Given the description of an element on the screen output the (x, y) to click on. 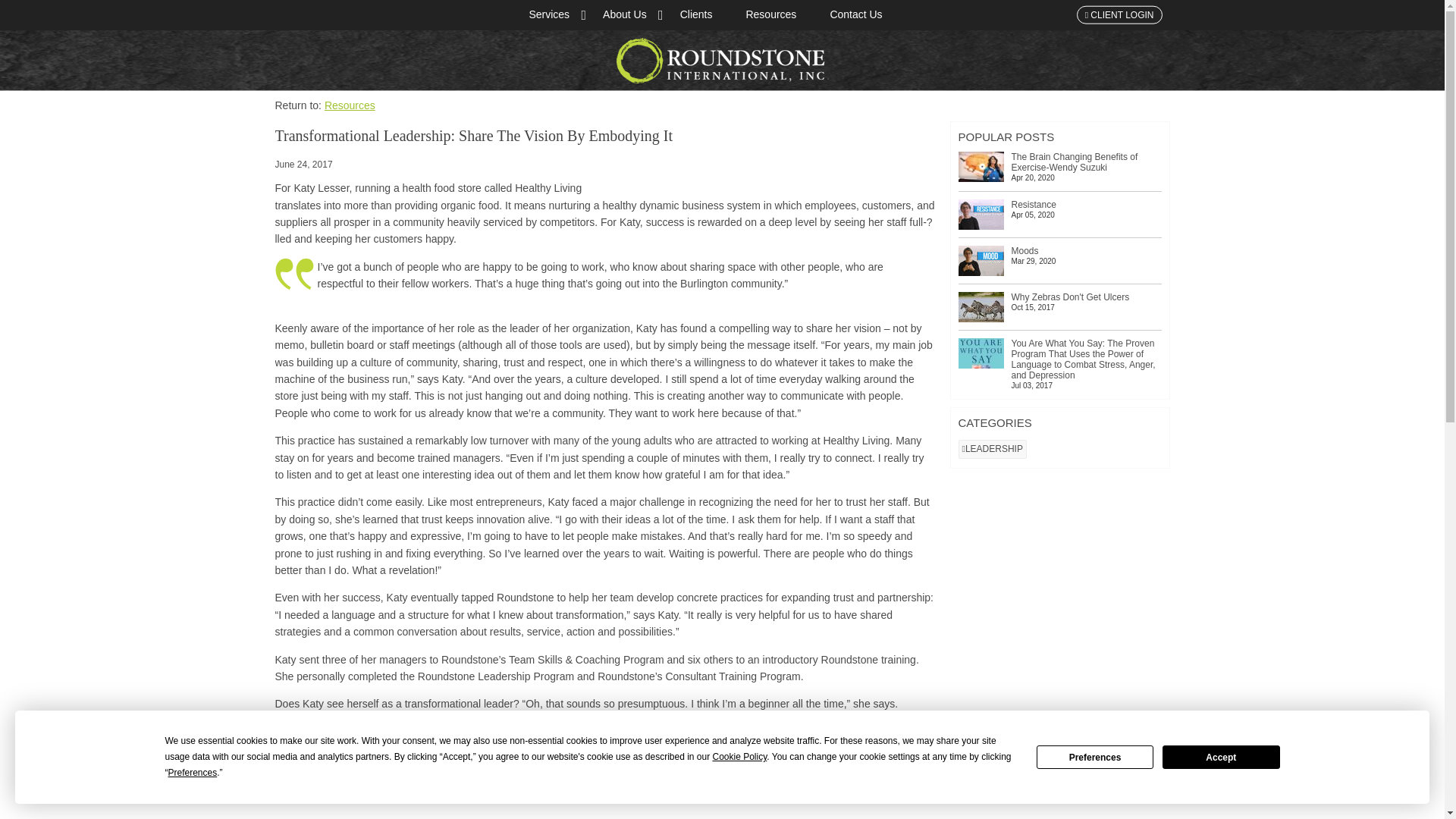
Accept (1220, 757)
Preferences (1094, 757)
The Brain Changing Benefits of Exercise-Wendy Suzuki (981, 166)
About Us (624, 15)
Return Home (721, 60)
Resistance (981, 214)
Why Zebras Don't Get Ulcers (981, 306)
Resources (770, 15)
Resources (349, 105)
Services (549, 15)
Clients (696, 15)
Moods (981, 260)
